Given the description of an element on the screen output the (x, y) to click on. 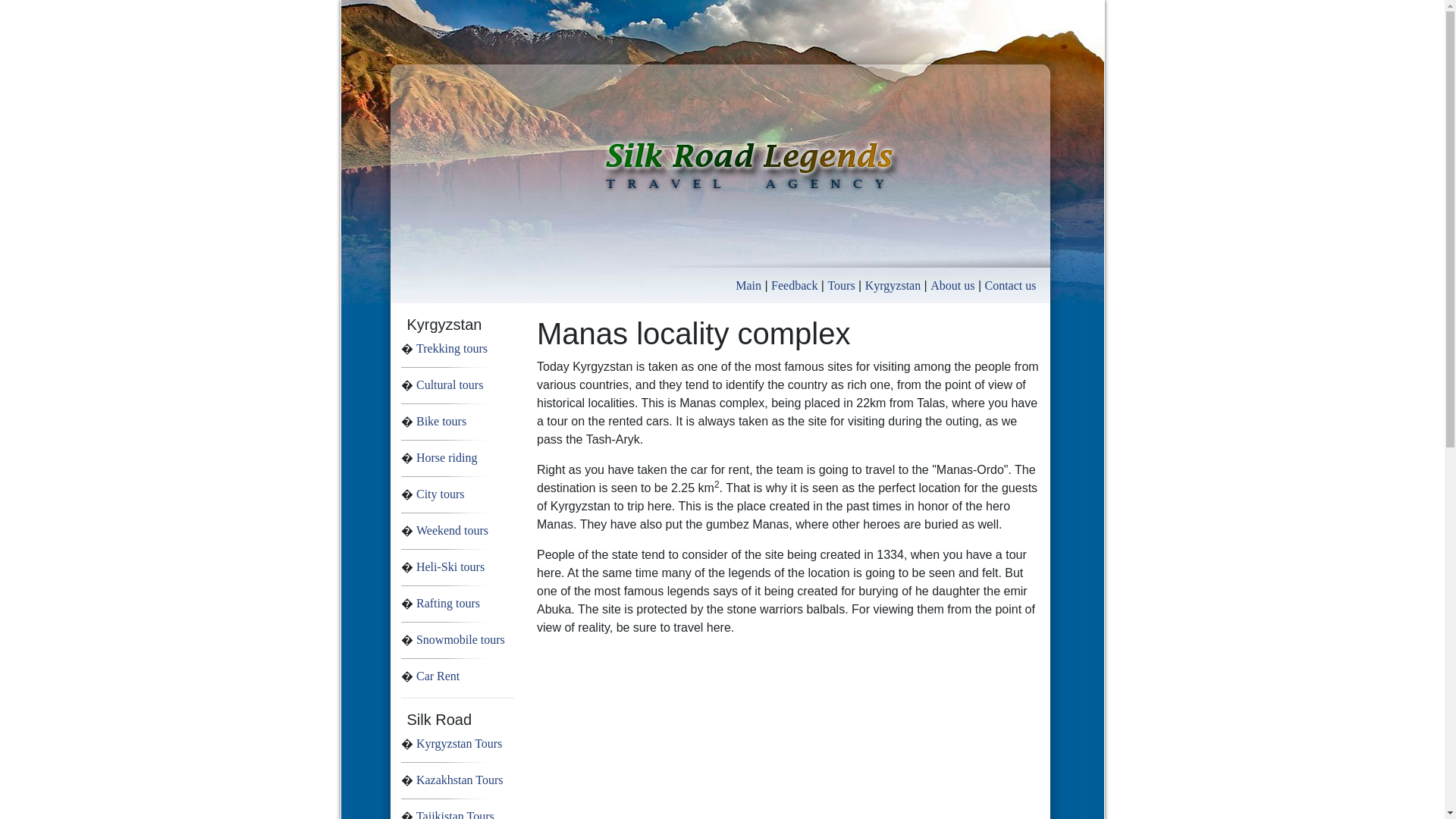
Snowmobile tours (460, 639)
Kyrgyzstan (892, 285)
Tours (840, 285)
Car Rent (438, 675)
Manas locality complex (790, 333)
Kazakhstan Tours (459, 779)
City tours (440, 493)
Main (748, 285)
Kyrgyzstan Tours (459, 743)
Tajikistan Tours (455, 814)
